Given the description of an element on the screen output the (x, y) to click on. 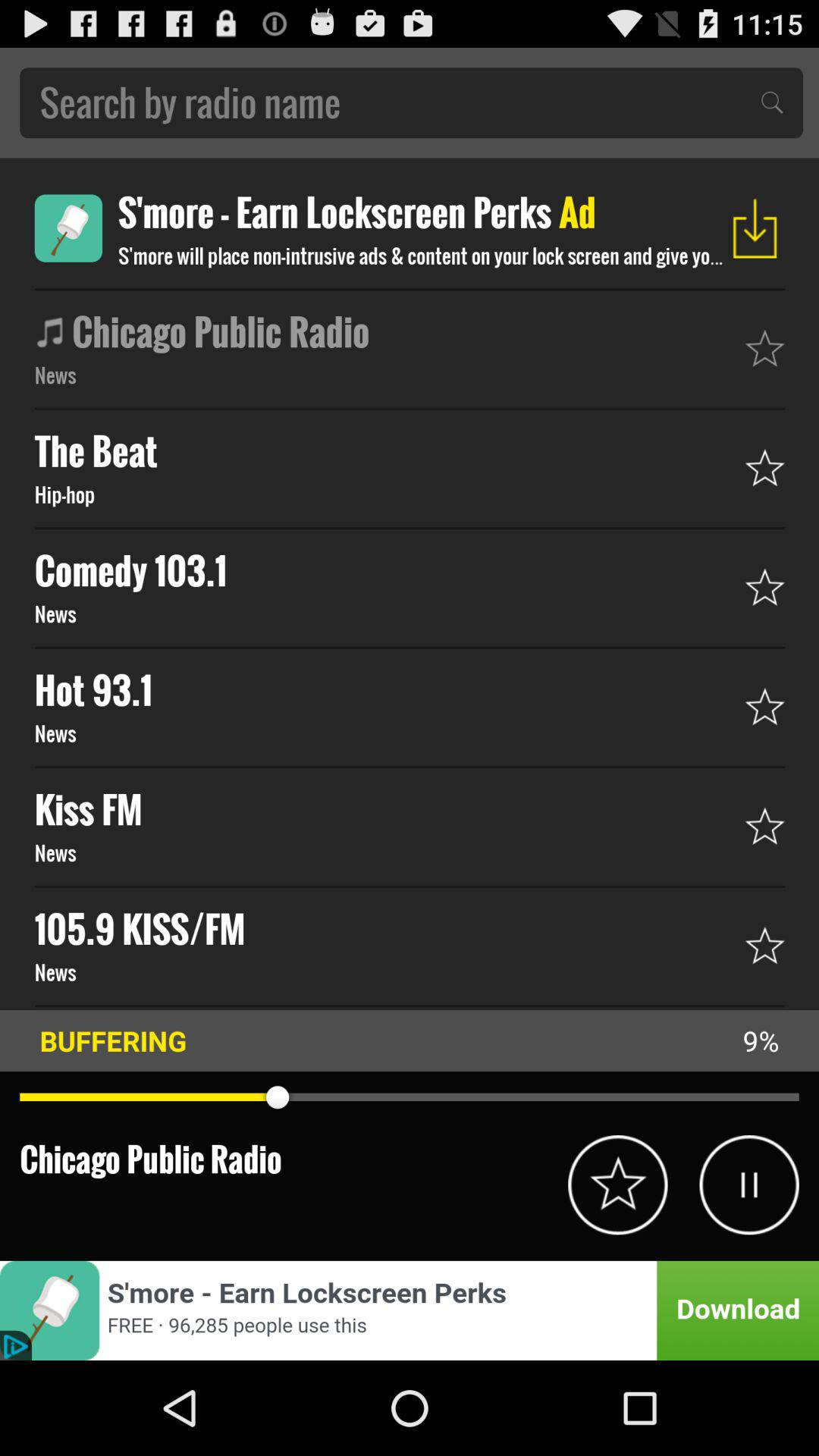
pause (749, 1184)
